Given the description of an element on the screen output the (x, y) to click on. 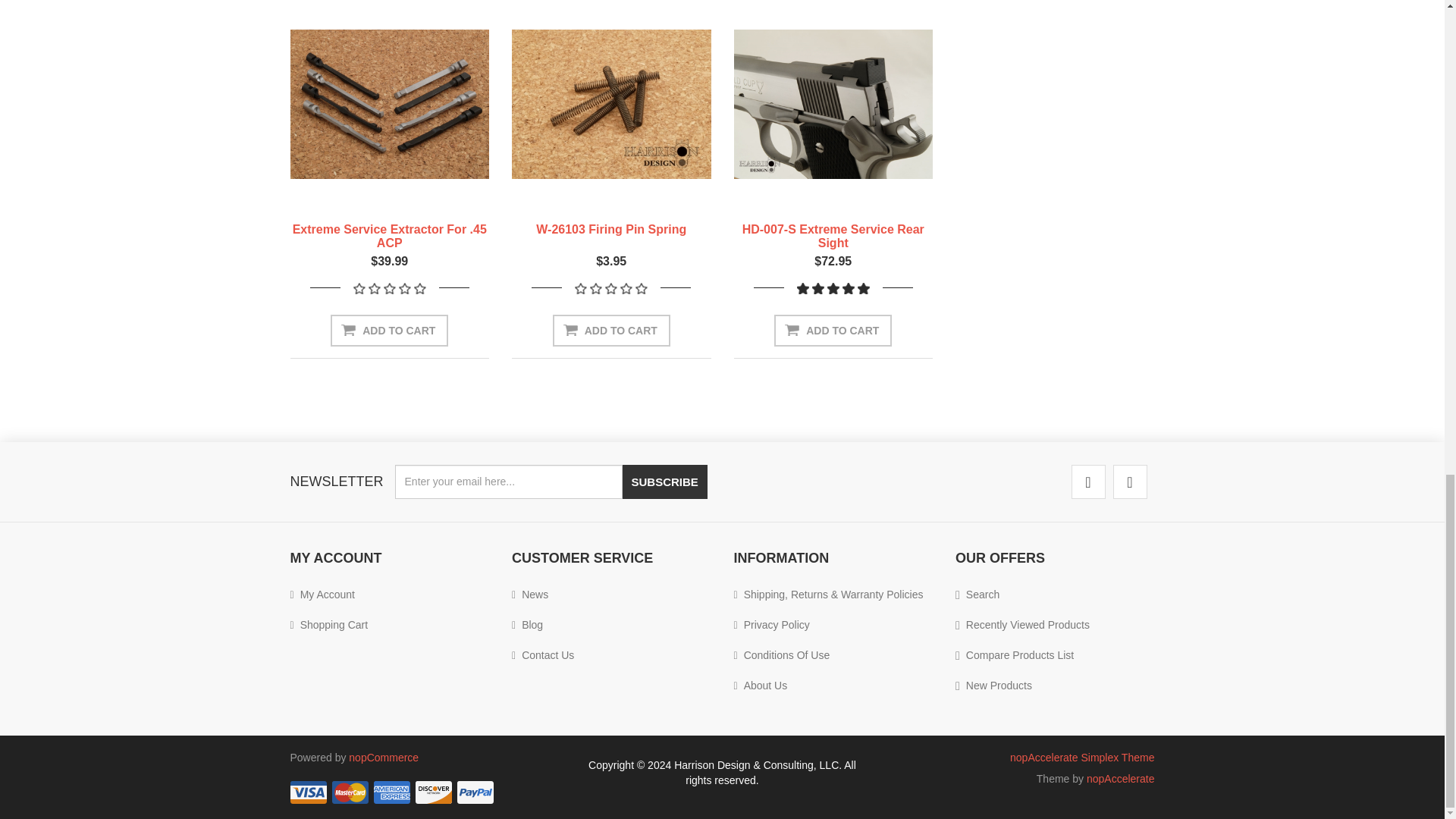
Show details for HD-007-S Extreme Service Rear Sight (833, 104)
Show details for Extreme Service Extractor for .45 ACP (389, 103)
Show details for HD-007-S Extreme Service Rear Sight (833, 103)
Show details for W-26103 Firing pin spring (611, 103)
Show details for W-26103 Firing pin spring (611, 104)
Show details for Extreme Service Extractor for .45 ACP (389, 104)
